Given the description of an element on the screen output the (x, y) to click on. 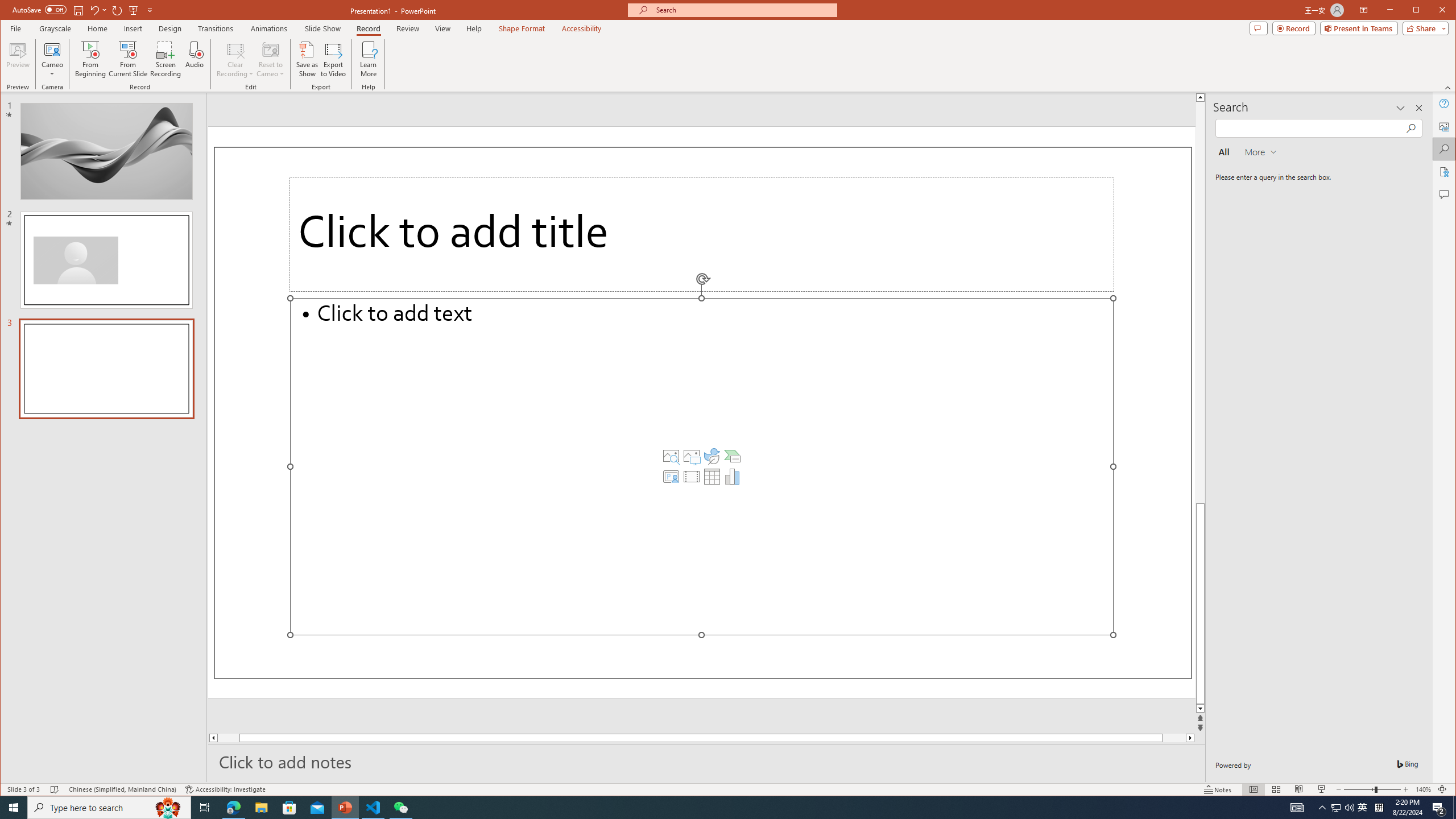
Search highlights icon opens search home window (167, 807)
WeChat - 1 running window (400, 807)
Animations (269, 28)
Zoom 140% (1422, 789)
Quick Access Toolbar (83, 9)
File Tab (15, 27)
Cameo (52, 48)
Customize Quick Access Toolbar (150, 9)
Notes  (1217, 789)
From Current Slide... (127, 59)
Export to Video (333, 59)
Insert an Icon (711, 456)
Minimize (1419, 11)
Maximize (1432, 11)
